Given the description of an element on the screen output the (x, y) to click on. 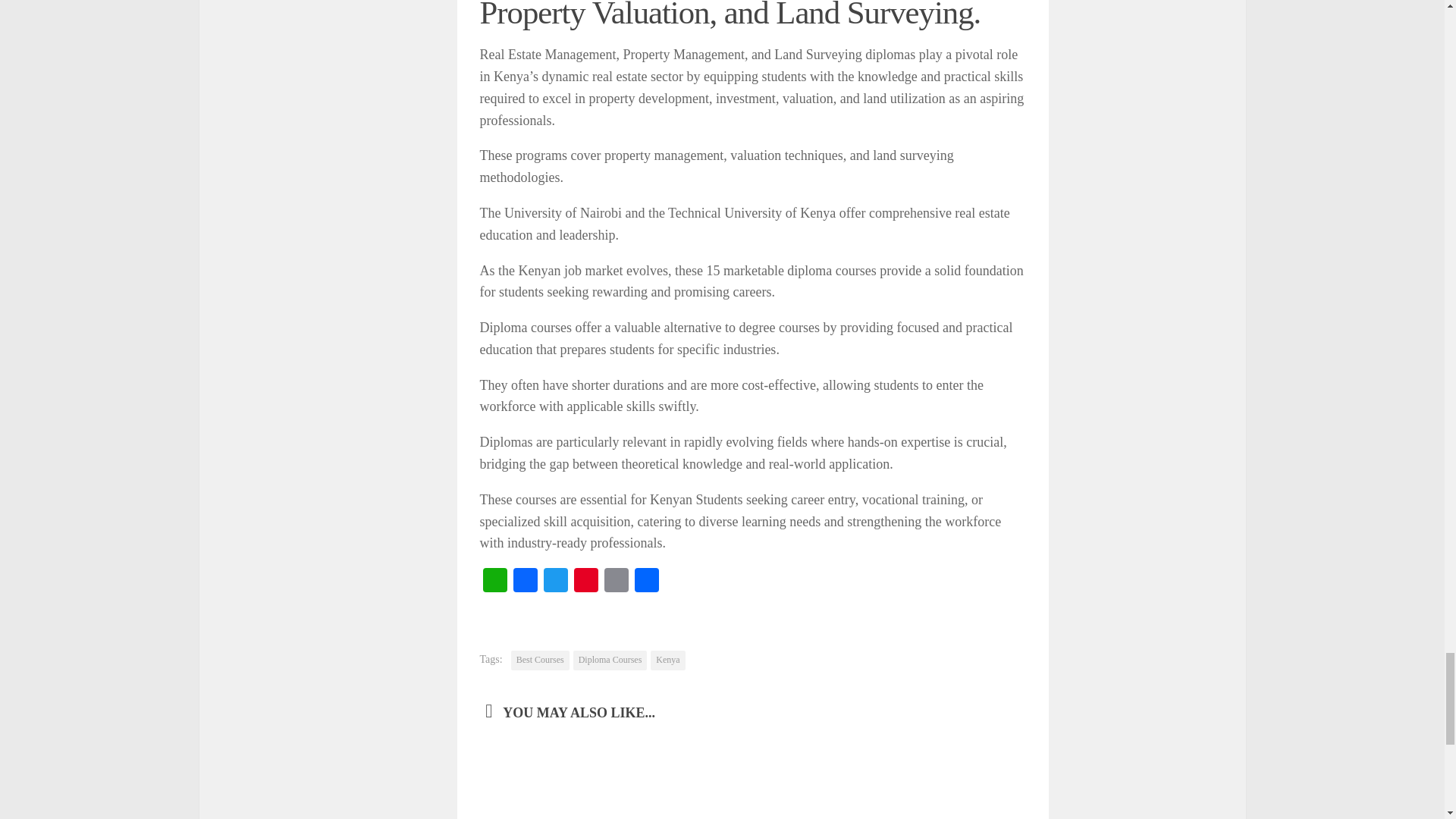
Twitter (555, 582)
Best Courses (540, 660)
Pinterest (584, 582)
Facebook (524, 582)
Facebook (524, 582)
Diploma Courses (610, 660)
Copy Link (614, 582)
WhatsApp (494, 582)
WhatsApp (494, 582)
Twitter (555, 582)
Pinterest (584, 582)
Share (645, 582)
